Given the description of an element on the screen output the (x, y) to click on. 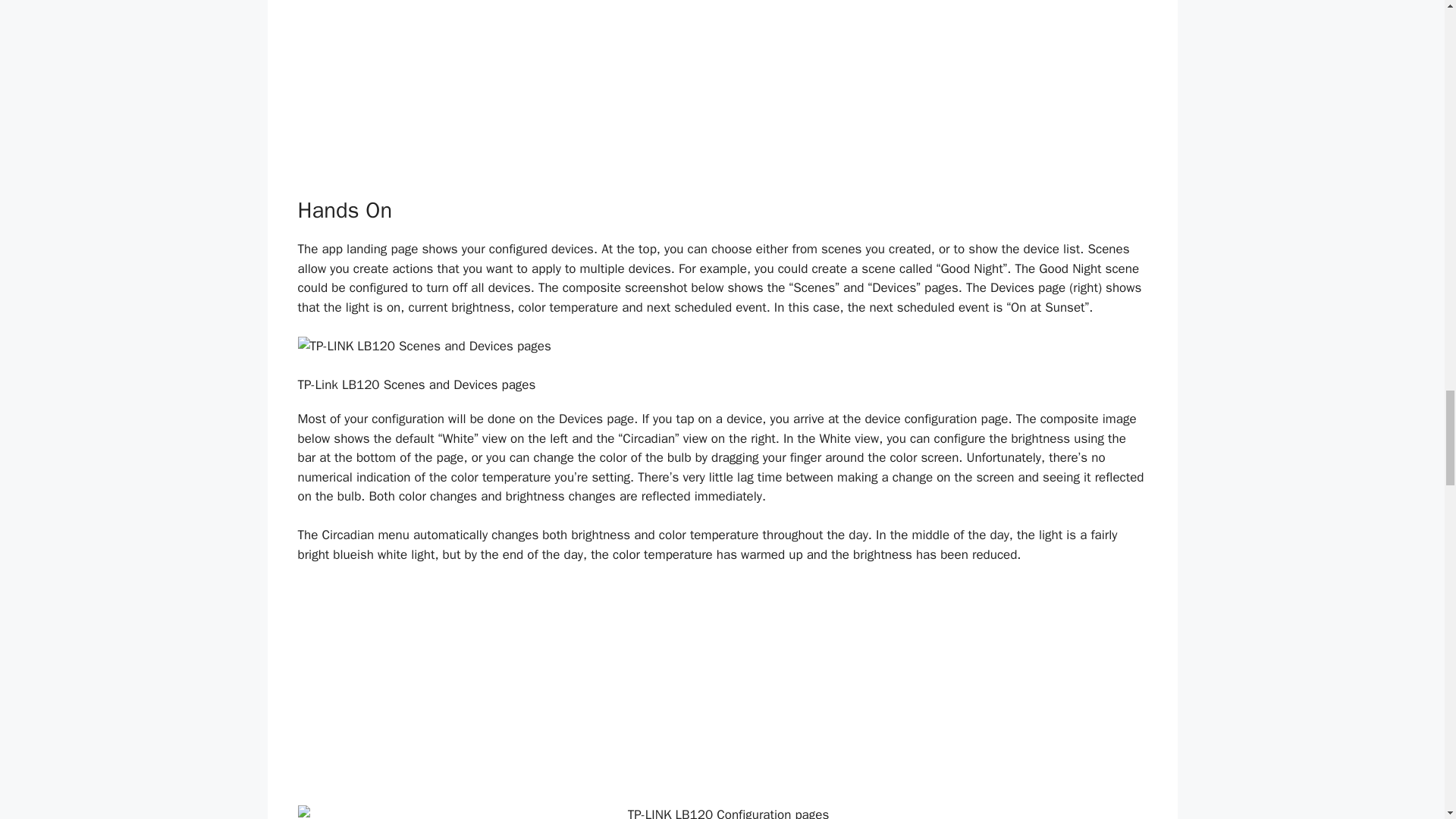
TP-LINK LB120 Configuration pages (722, 812)
TP-LINK LB120 Scenes and Devices pages (722, 346)
